Given the description of an element on the screen output the (x, y) to click on. 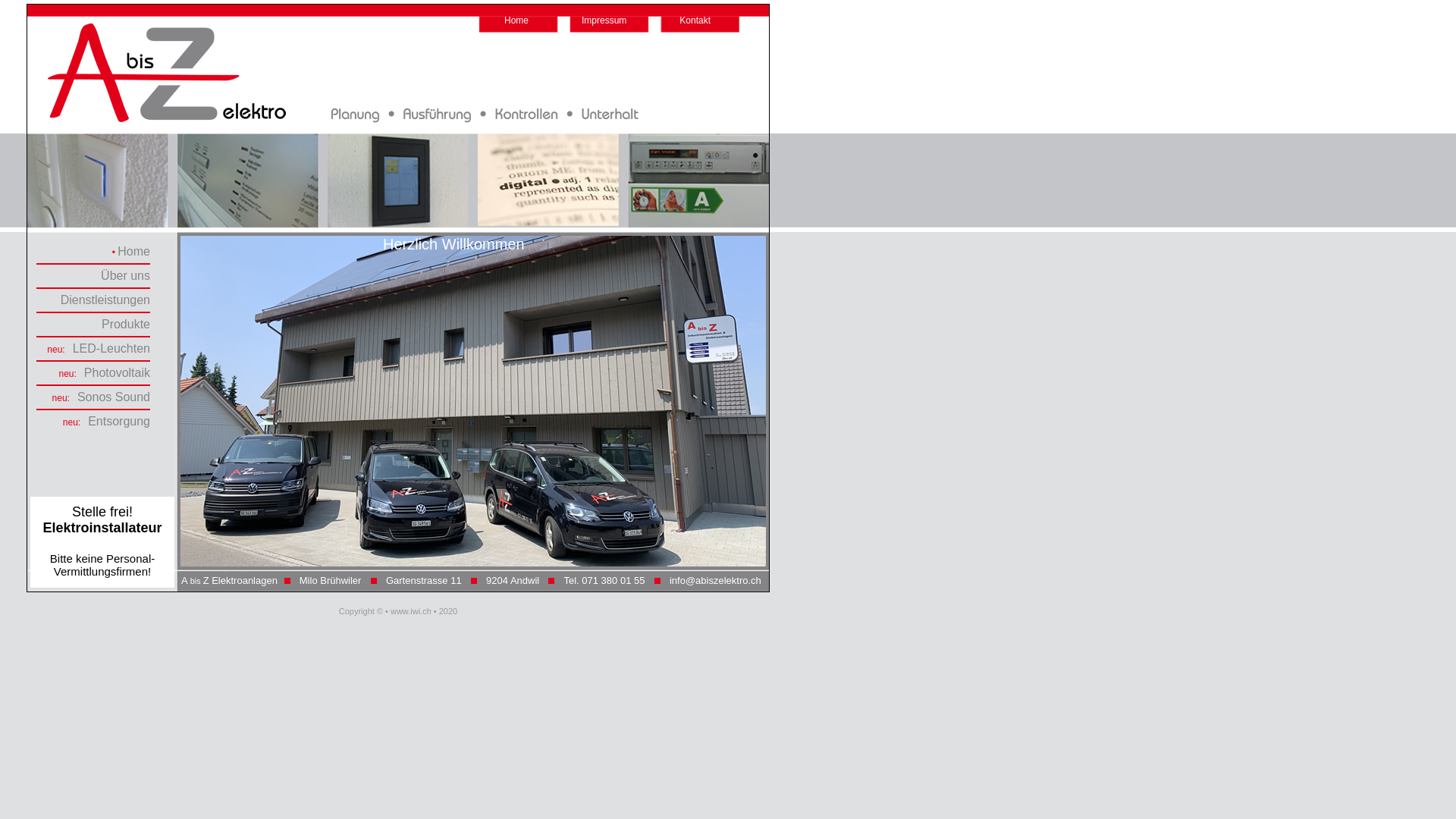
Entsorgung Element type: text (118, 420)
info@abiszelektro.ch Element type: text (715, 580)
Kontakt Element type: text (694, 20)
Produkte Element type: text (125, 323)
LED-Leuchten Element type: text (111, 348)
Home Element type: text (133, 250)
Home Element type: text (516, 20)
Dienstleistungen Element type: text (105, 299)
Impressum Element type: text (603, 20)
Sonos Sound Element type: text (113, 396)
Photovoltaik Element type: text (117, 372)
